Given the description of an element on the screen output the (x, y) to click on. 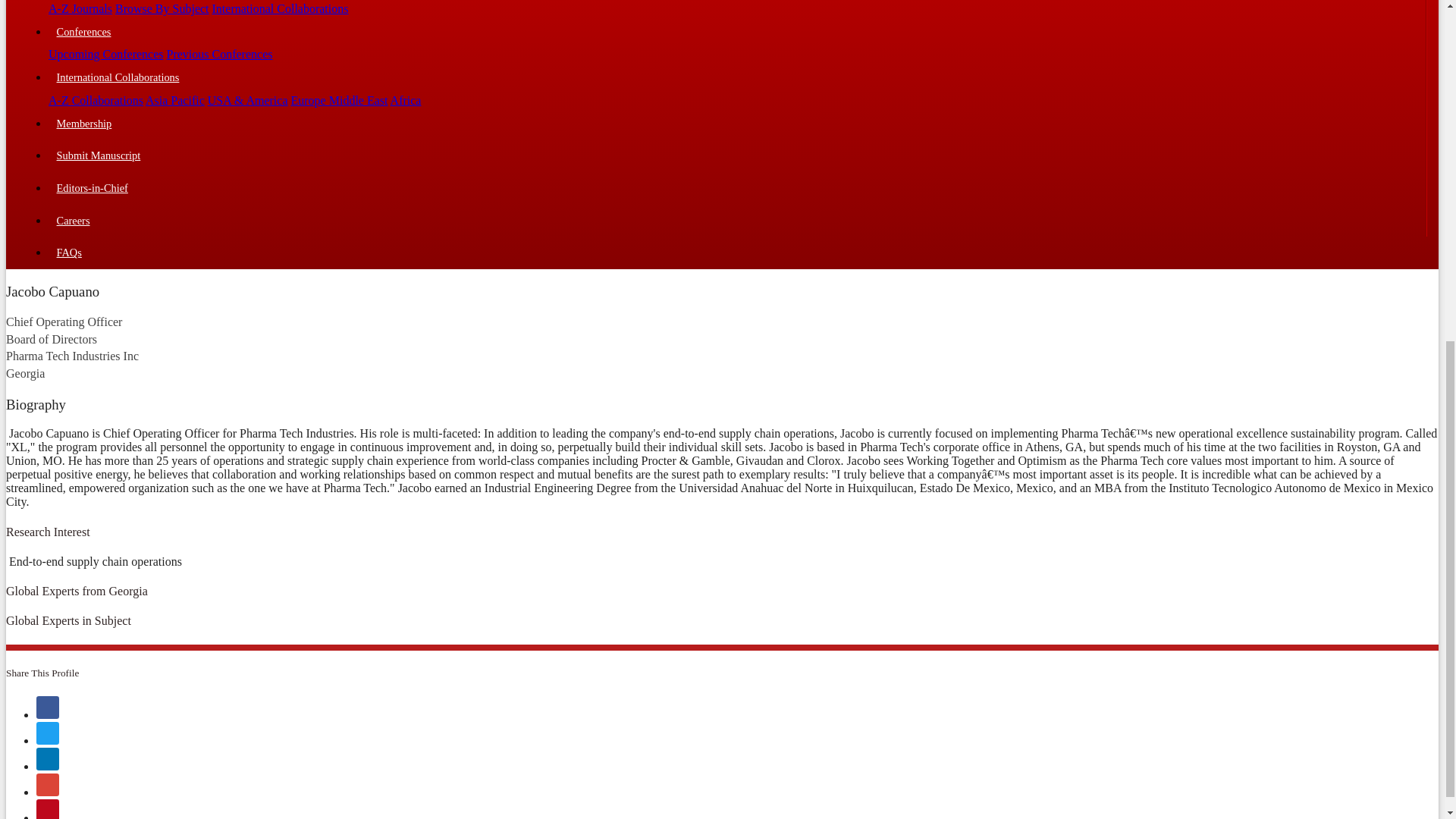
Conferences (736, 31)
International Collaborations (280, 8)
Europe Middle East (339, 100)
A-Z Journals (80, 8)
Upcoming Conferences (105, 53)
International Collaborations (736, 77)
Asia Pacific (175, 100)
FAQs (737, 252)
Africa (406, 100)
Previous Conferences (220, 53)
Upcoming Conferences (105, 53)
Submit Manuscript (736, 156)
Browse By Subject (162, 8)
